Given the description of an element on the screen output the (x, y) to click on. 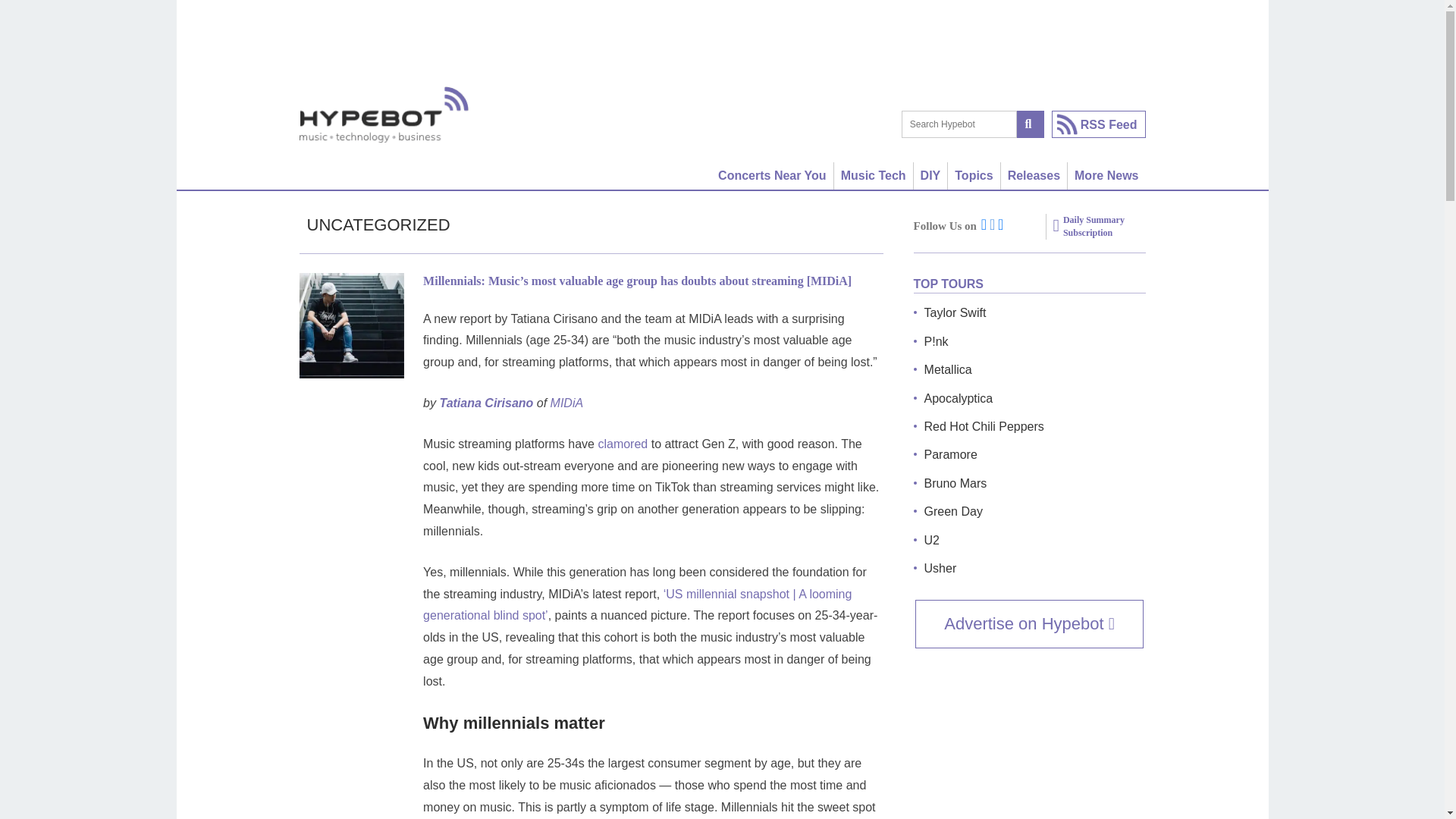
DIY (931, 175)
View all posts in Uncategorized (377, 224)
Music Tech (874, 175)
Topics (973, 175)
RSS Feed (1098, 124)
Concerts Near You (772, 175)
